Given the description of an element on the screen output the (x, y) to click on. 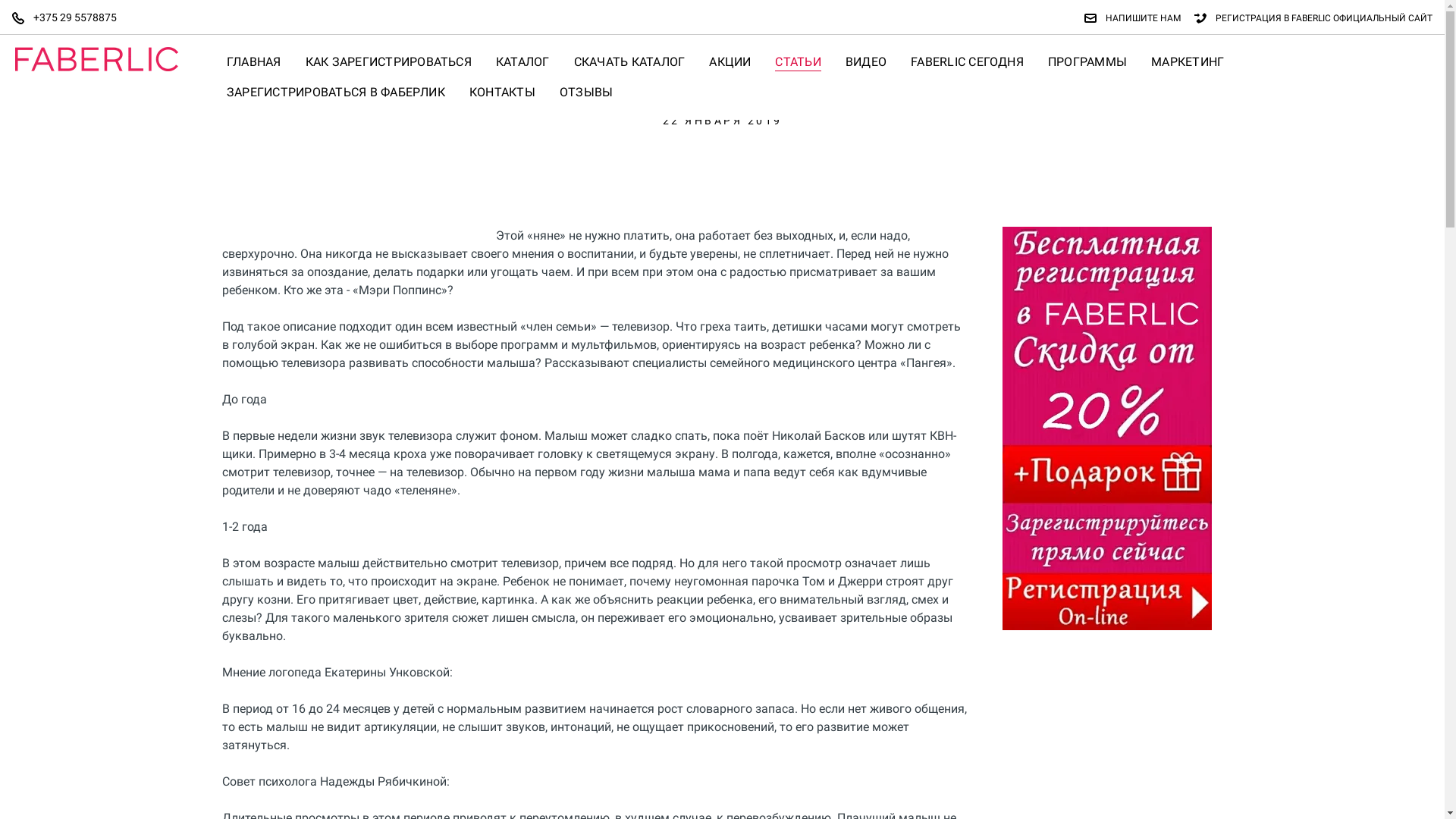
+375 29 5578875 Element type: text (70, 17)
